Given the description of an element on the screen output the (x, y) to click on. 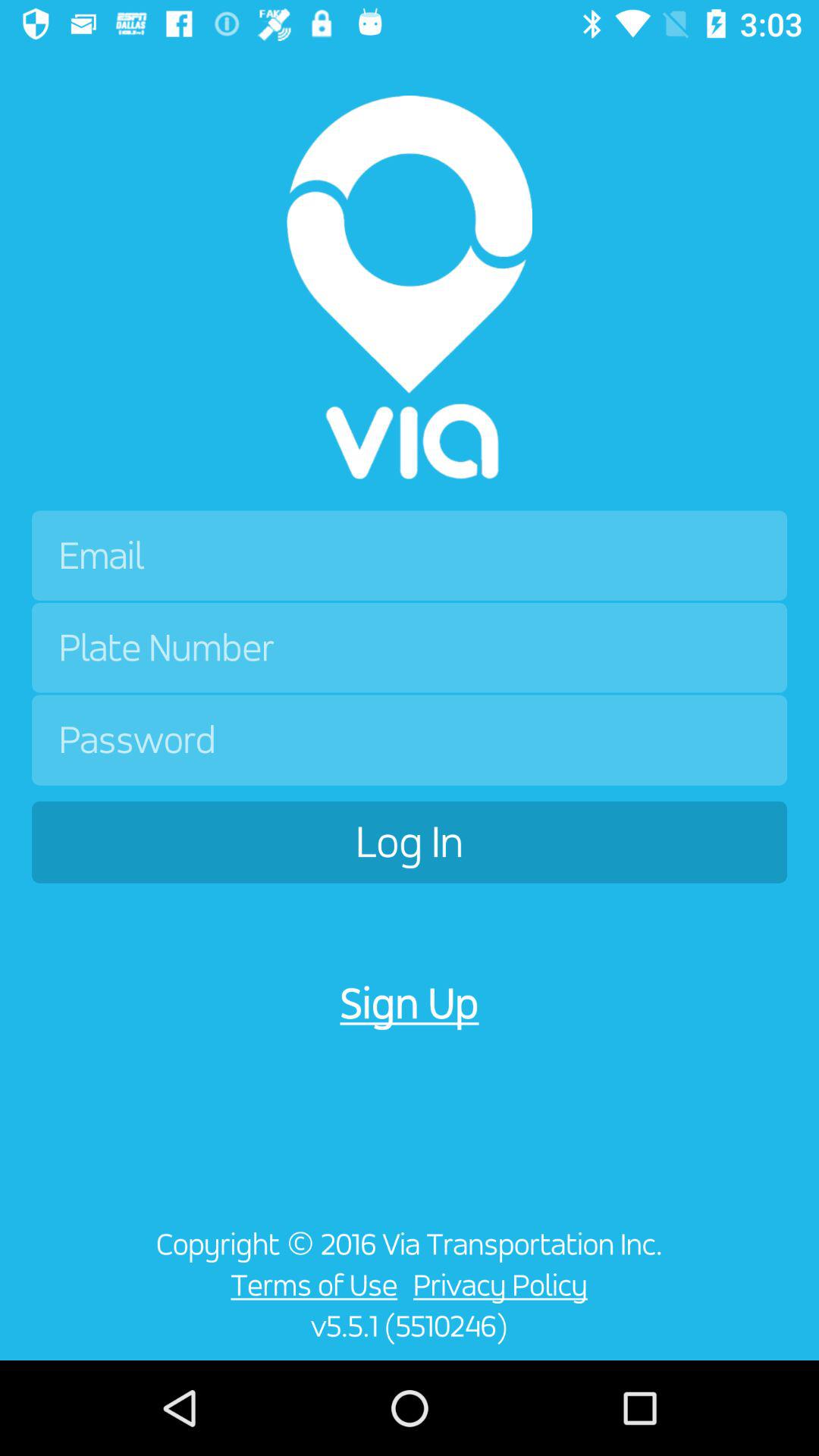
click item below the log in (65, 1294)
